Given the description of an element on the screen output the (x, y) to click on. 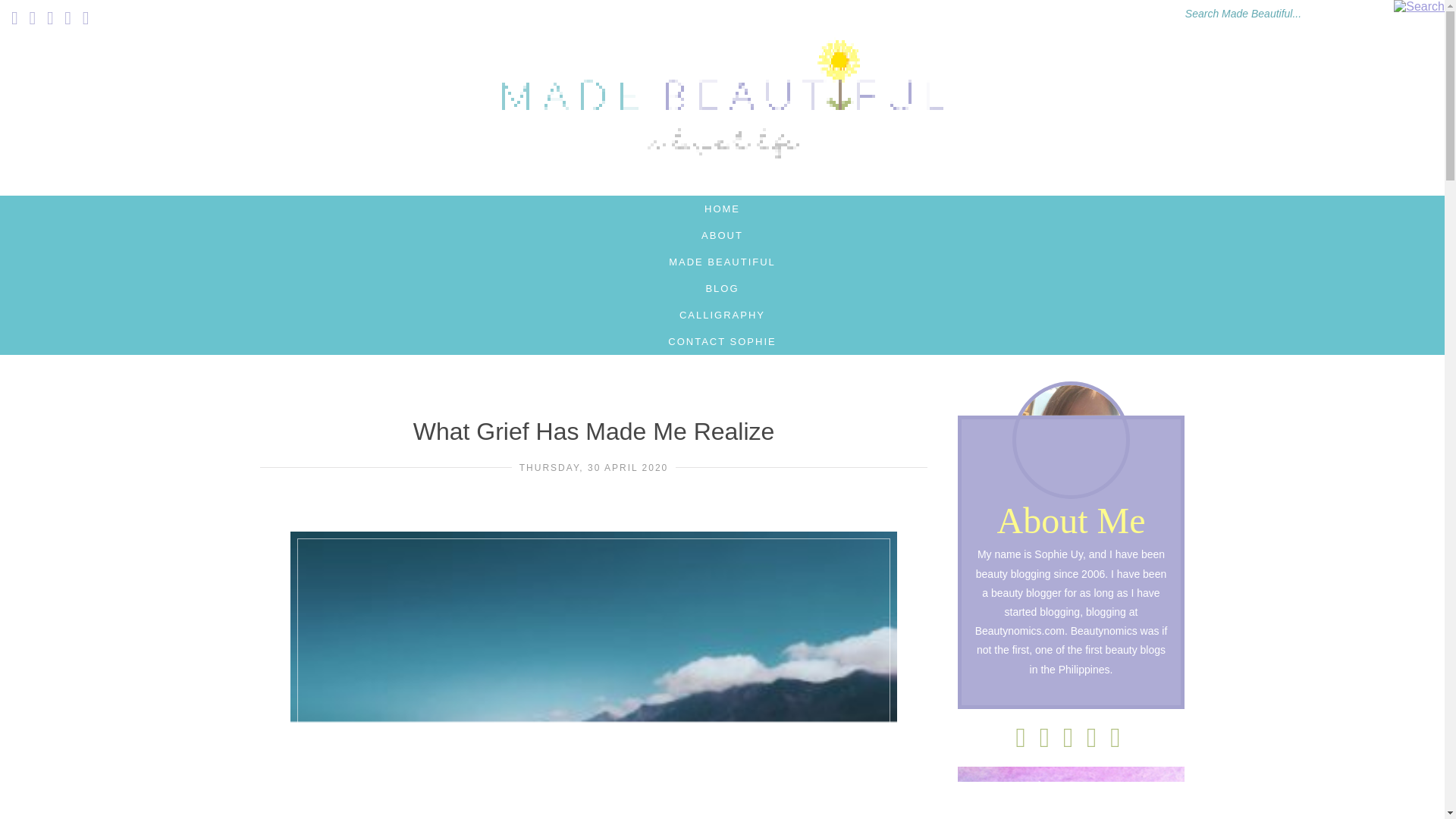
BLOG (722, 288)
HOME (722, 208)
What Grief Has Made Me Realize (593, 431)
CONTACT SOPHIE (722, 341)
CALLIGRAPHY (722, 315)
Search Made Beautiful... (1275, 9)
ABOUT (722, 234)
MADE BEAUTIFUL (722, 261)
